Given the description of an element on the screen output the (x, y) to click on. 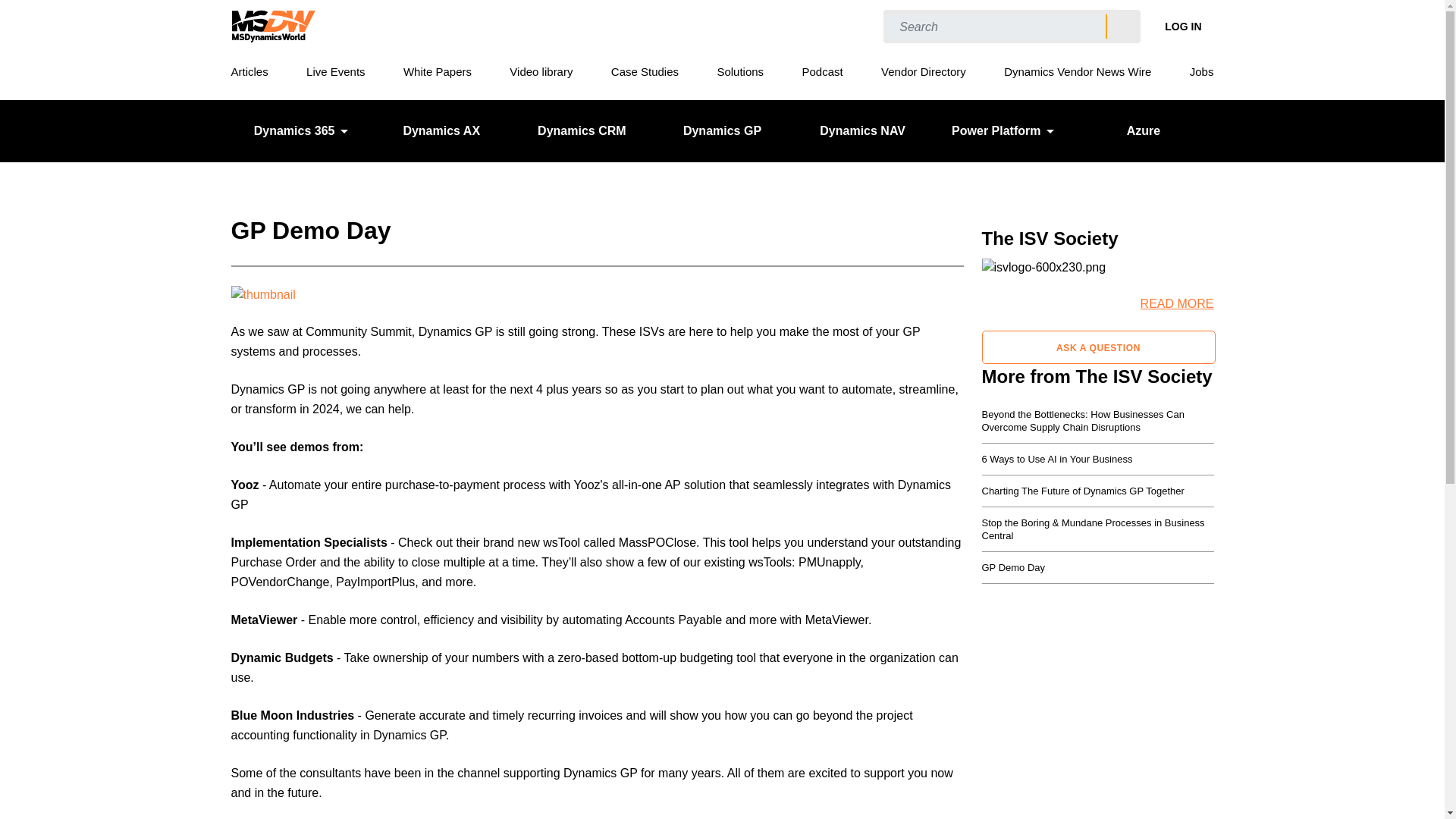
Jobs (1201, 71)
Podcast (822, 71)
Search (1122, 27)
Dynamics AX (441, 130)
Case Studies (644, 71)
White Papers (437, 71)
Articles (248, 71)
Dynamics Vendor News Wire (1077, 71)
Vendor Directory (923, 71)
Solutions (739, 71)
LOG IN (1182, 26)
Dynamics 365 (300, 130)
Search (1122, 27)
Live Events (335, 71)
Video library (540, 71)
